Given the description of an element on the screen output the (x, y) to click on. 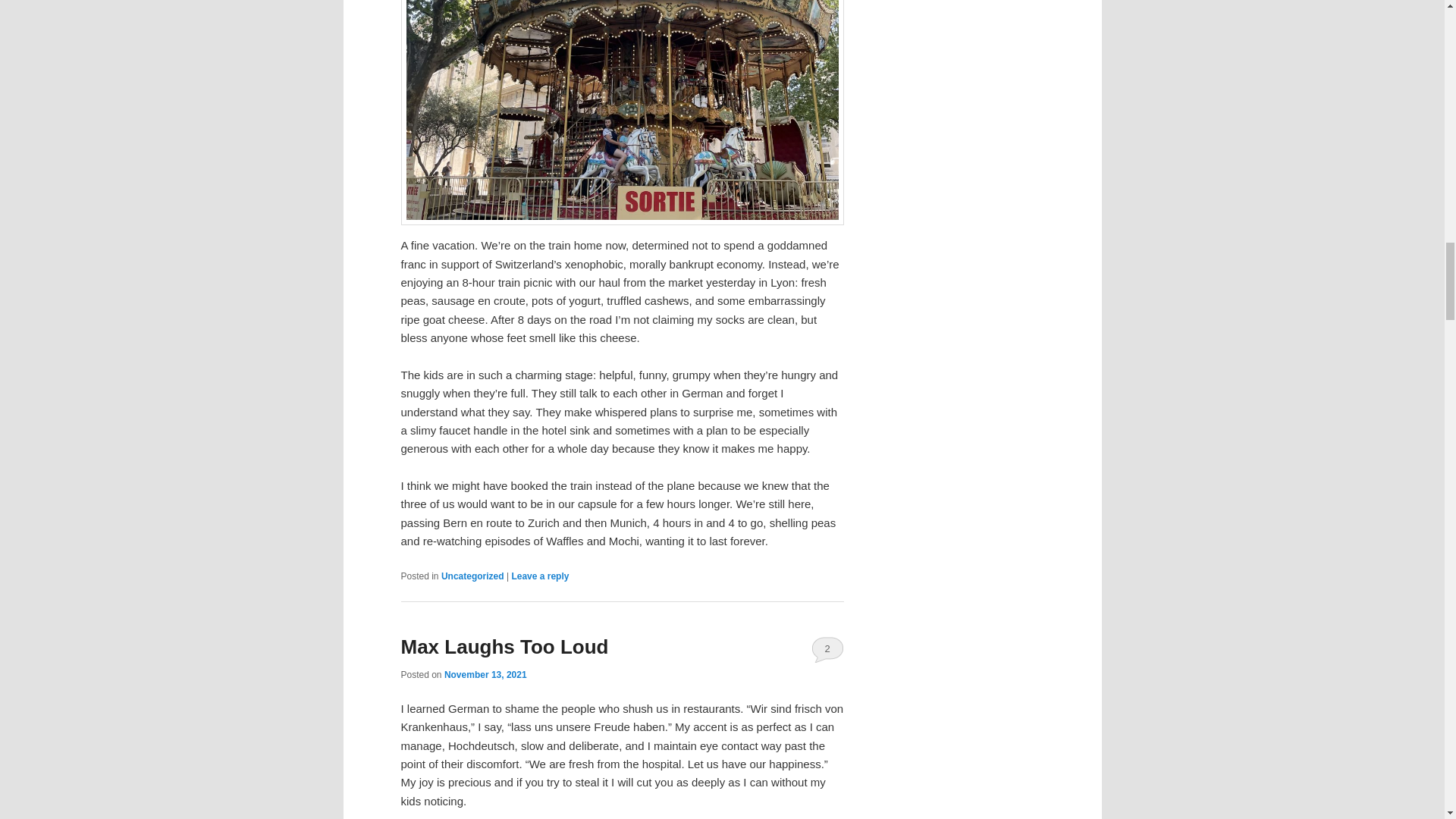
9:33 am (485, 674)
Permalink to Max Laughs Too Loud (504, 646)
Uncategorized (472, 575)
2 (827, 648)
November 13, 2021 (485, 674)
Leave a reply (540, 575)
Max Laughs Too Loud (504, 646)
